Given the description of an element on the screen output the (x, y) to click on. 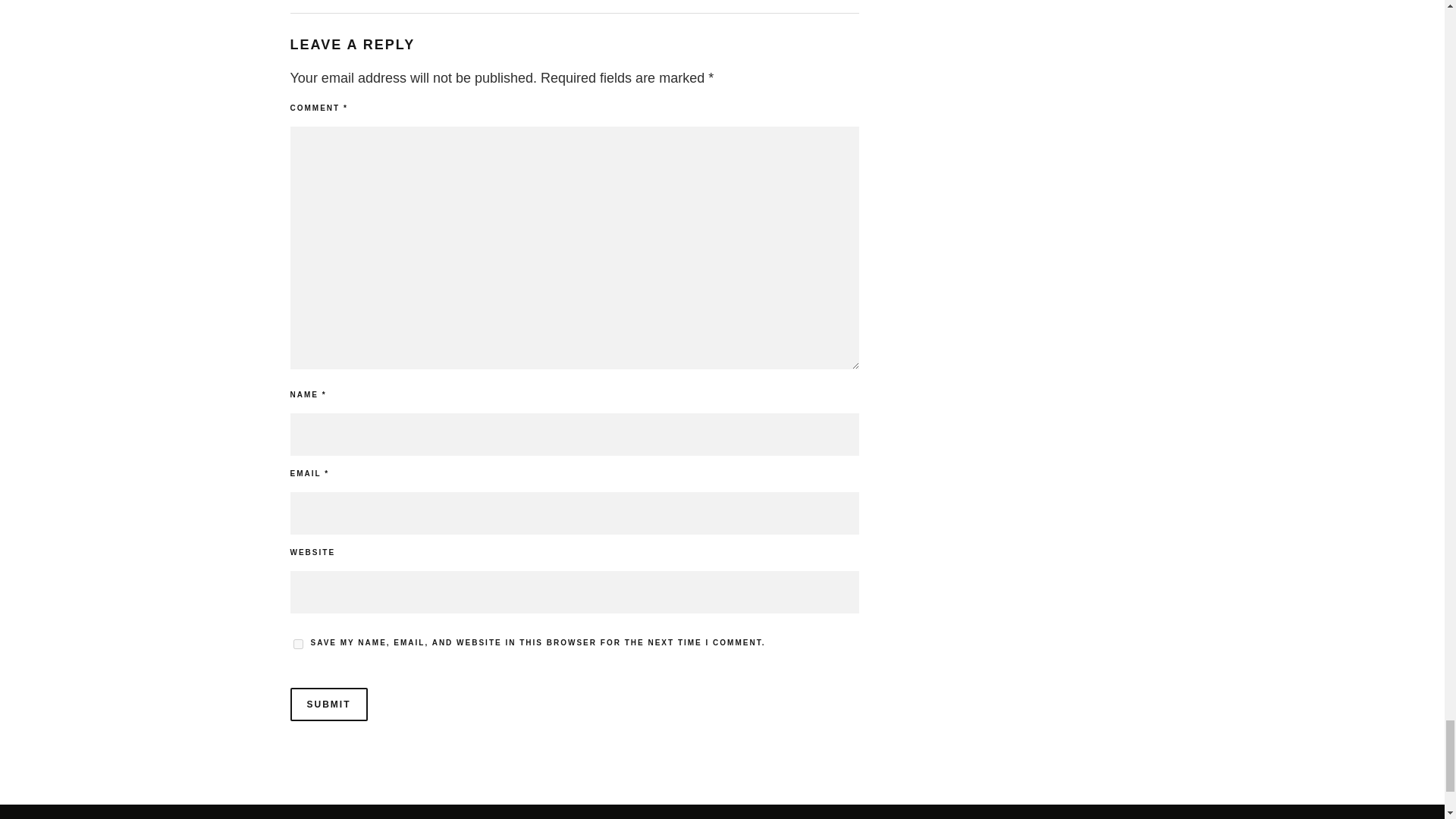
Submit (327, 704)
Submit (327, 704)
yes (297, 644)
